Given the description of an element on the screen output the (x, y) to click on. 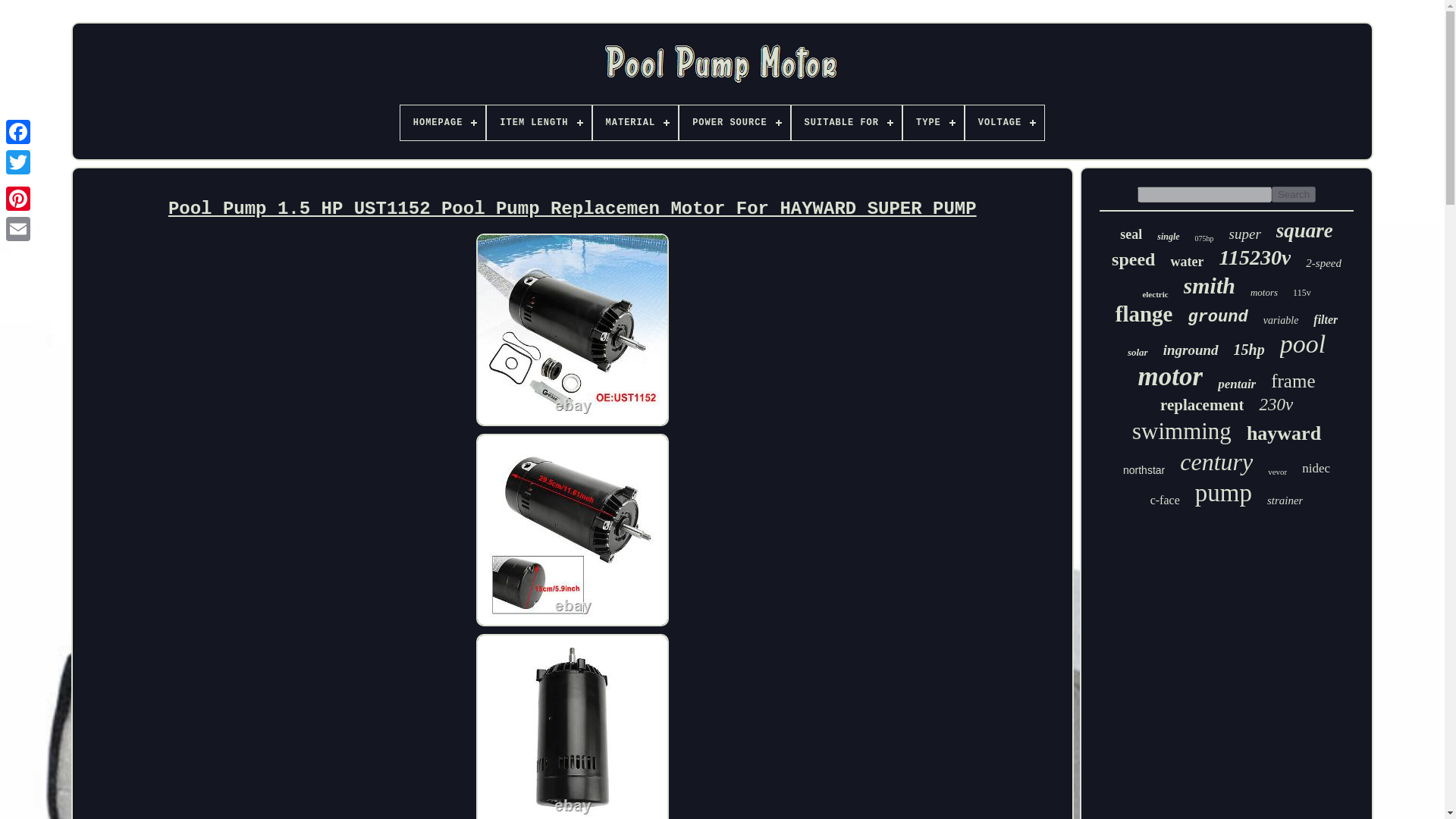
Pinterest (17, 198)
HOMEPAGE (443, 122)
MATERIAL (635, 122)
ITEM LENGTH (538, 122)
Search (1293, 194)
